Given the description of an element on the screen output the (x, y) to click on. 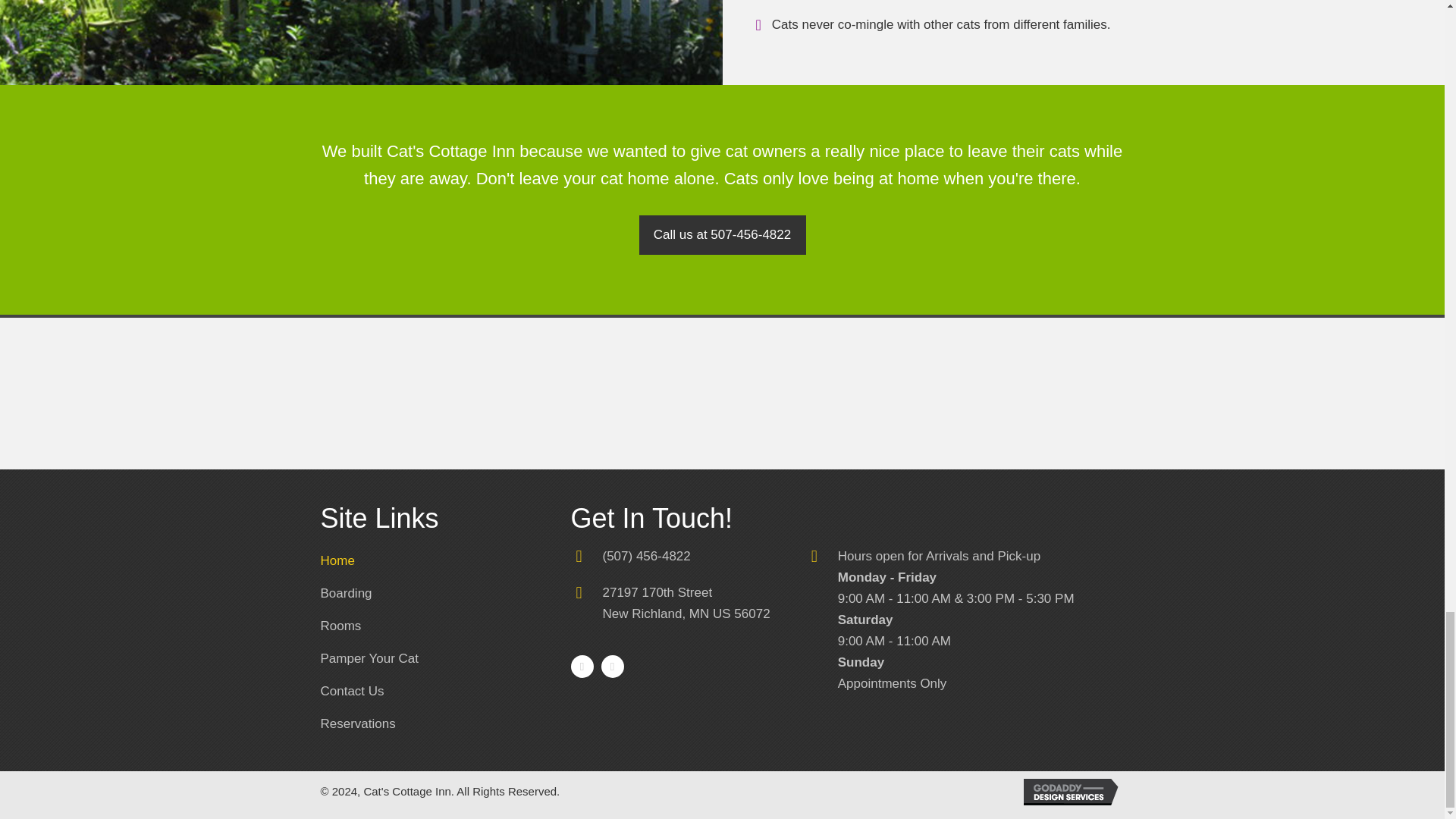
Reservations (686, 602)
Home (357, 725)
Rooms (336, 562)
Boarding (340, 626)
Pamper Your Cat (345, 594)
Contact Us (368, 659)
Call us at 507-456-4822 (352, 692)
